Given the description of an element on the screen output the (x, y) to click on. 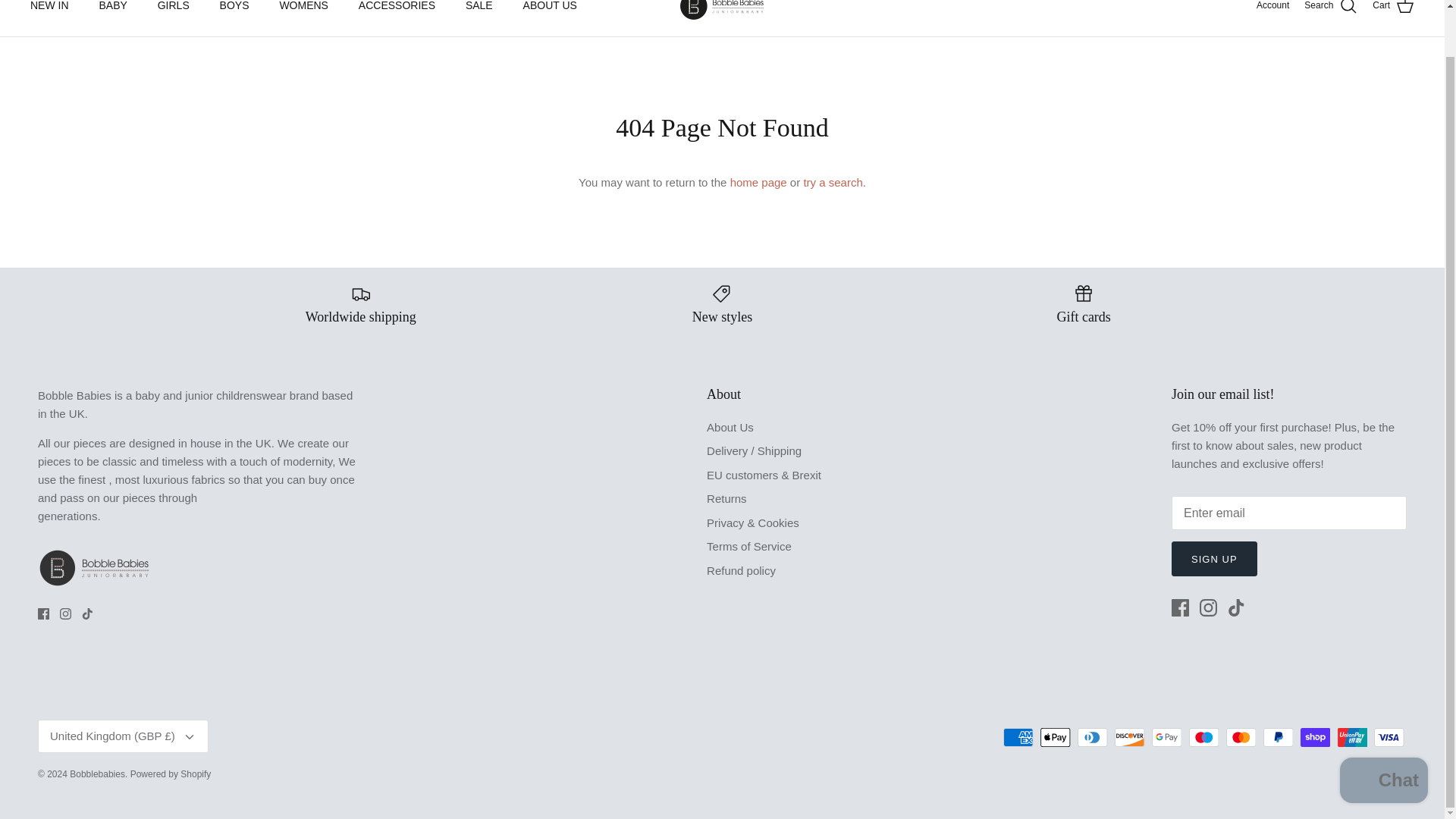
Bobblebabies (721, 10)
Instagram (65, 613)
Discover (1129, 737)
Facebook (43, 613)
Google Pay (1166, 737)
Shopify online store chat (1383, 731)
Apple Pay (1055, 737)
Facebook (1180, 607)
Instagram (1208, 607)
American Express (1018, 737)
